Given the description of an element on the screen output the (x, y) to click on. 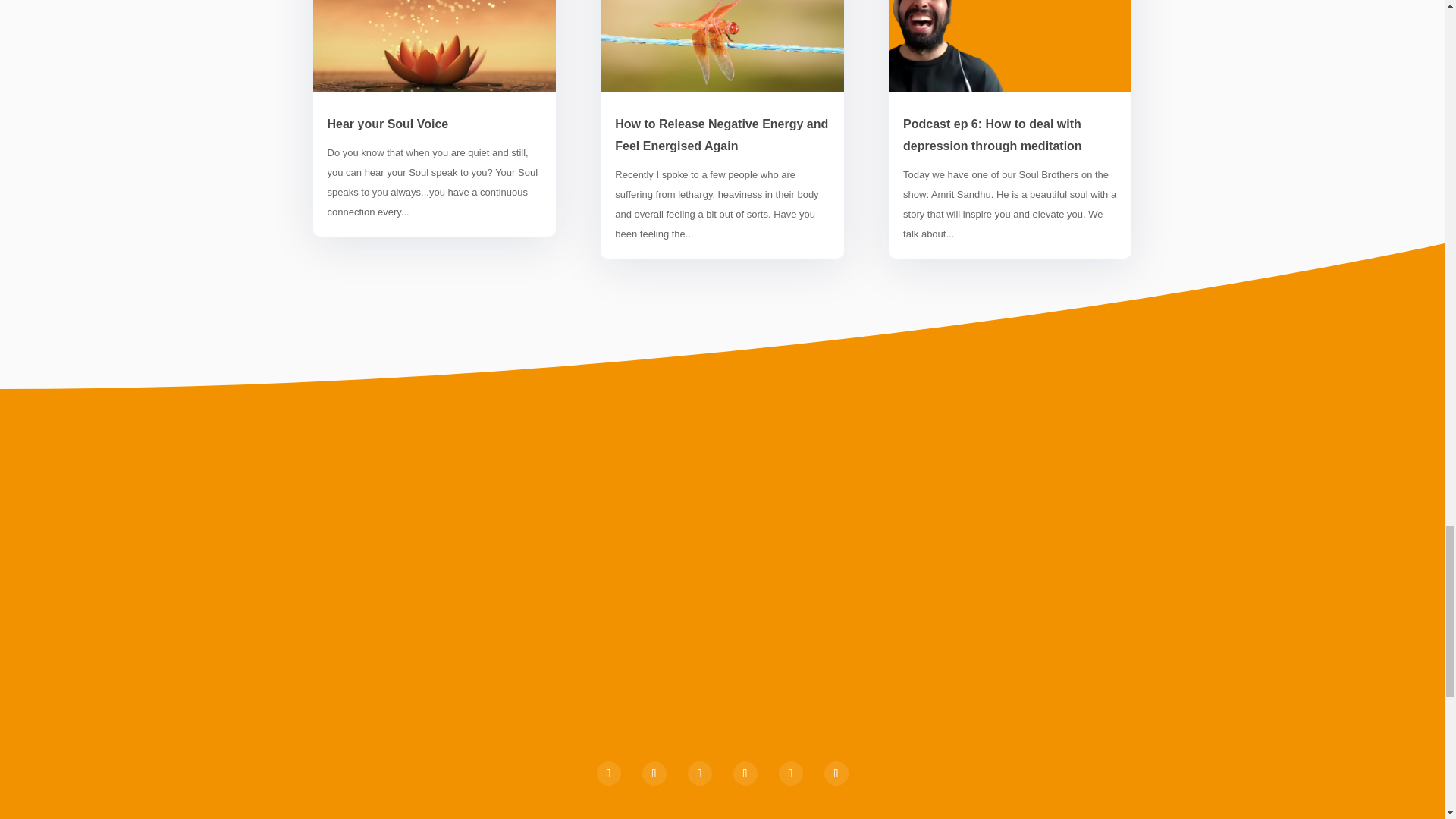
Follow on Instagram (699, 773)
Follow on Facebook (653, 773)
Follow on Youtube (835, 773)
Follow on LinkedIn (607, 773)
Follow on Telegram (744, 773)
Follow on Spotify (789, 773)
